Given the description of an element on the screen output the (x, y) to click on. 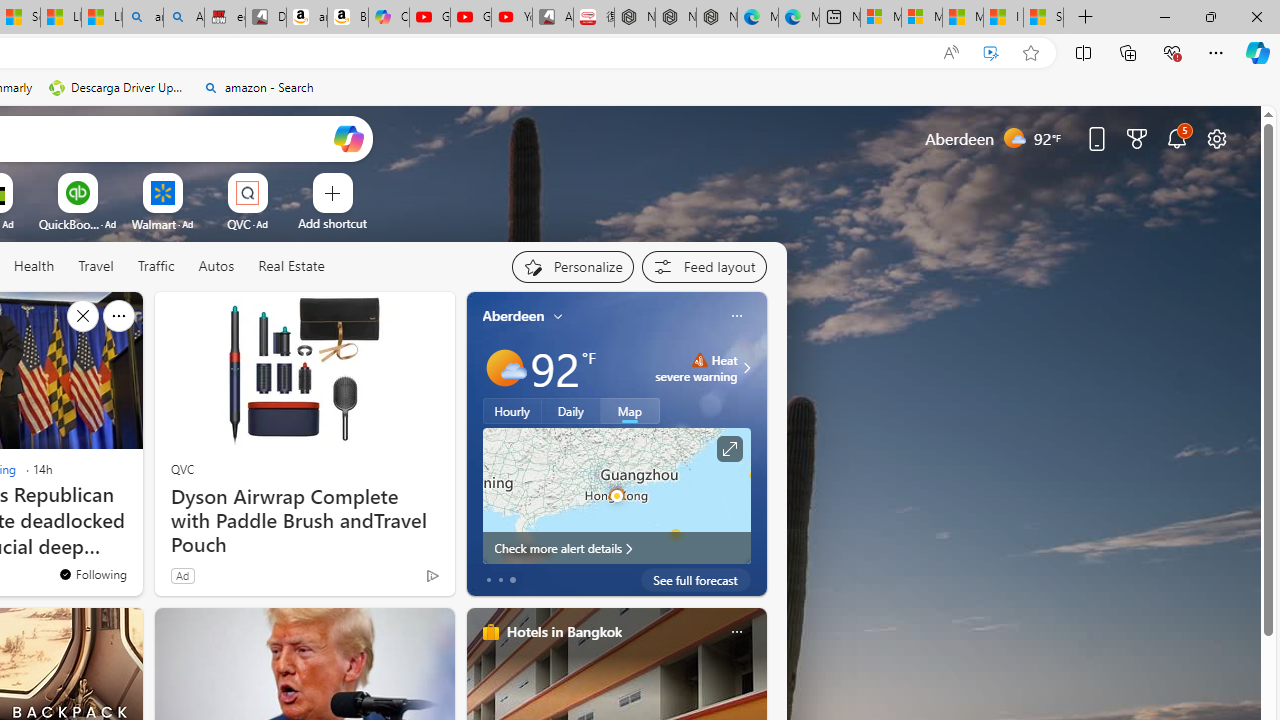
Click to see more information (728, 449)
Autos (216, 267)
You're following FOX News (92, 573)
Read aloud this page (Ctrl+Shift+U) (950, 53)
Real Estate (290, 267)
Class: icon-img (736, 632)
Aberdeen (513, 315)
New Tab (1085, 17)
Check more alert details (616, 547)
Page settings (1216, 138)
See full forecast (695, 579)
Add this page to favorites (Ctrl+D) (1030, 53)
